Given the description of an element on the screen output the (x, y) to click on. 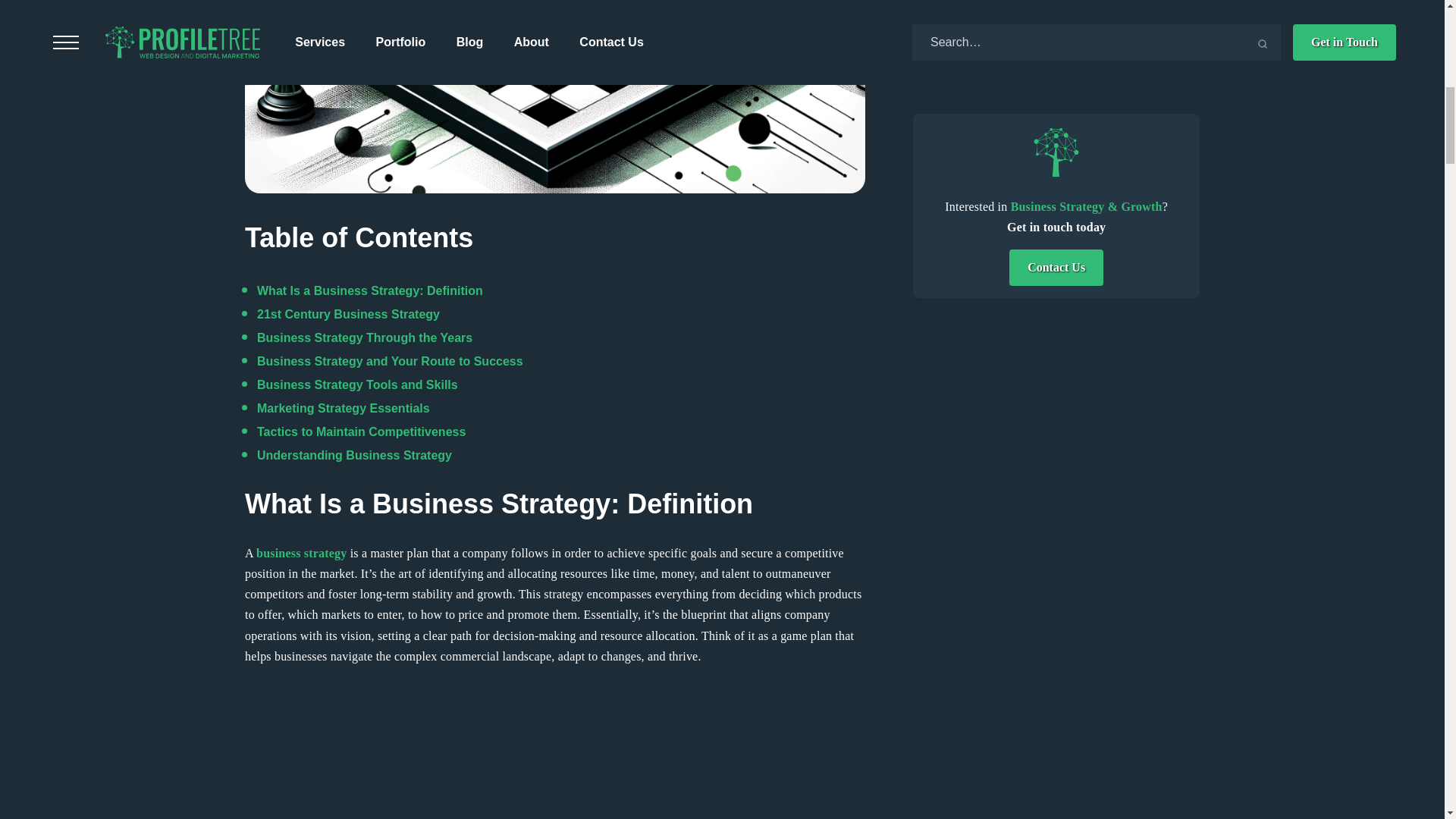
Marketing Strategy Essentials (343, 408)
Understanding Business Strategy (354, 454)
Business Strategy Through the Years (364, 337)
21st Century Business Strategy (348, 314)
business strategy (301, 553)
What Is a Business Strategy: Definition (370, 290)
Business Strategy and Your Route to Success (389, 360)
Tactics to Maintain Competitiveness (361, 431)
Business Strategy Tools and Skills (357, 384)
